Given the description of an element on the screen output the (x, y) to click on. 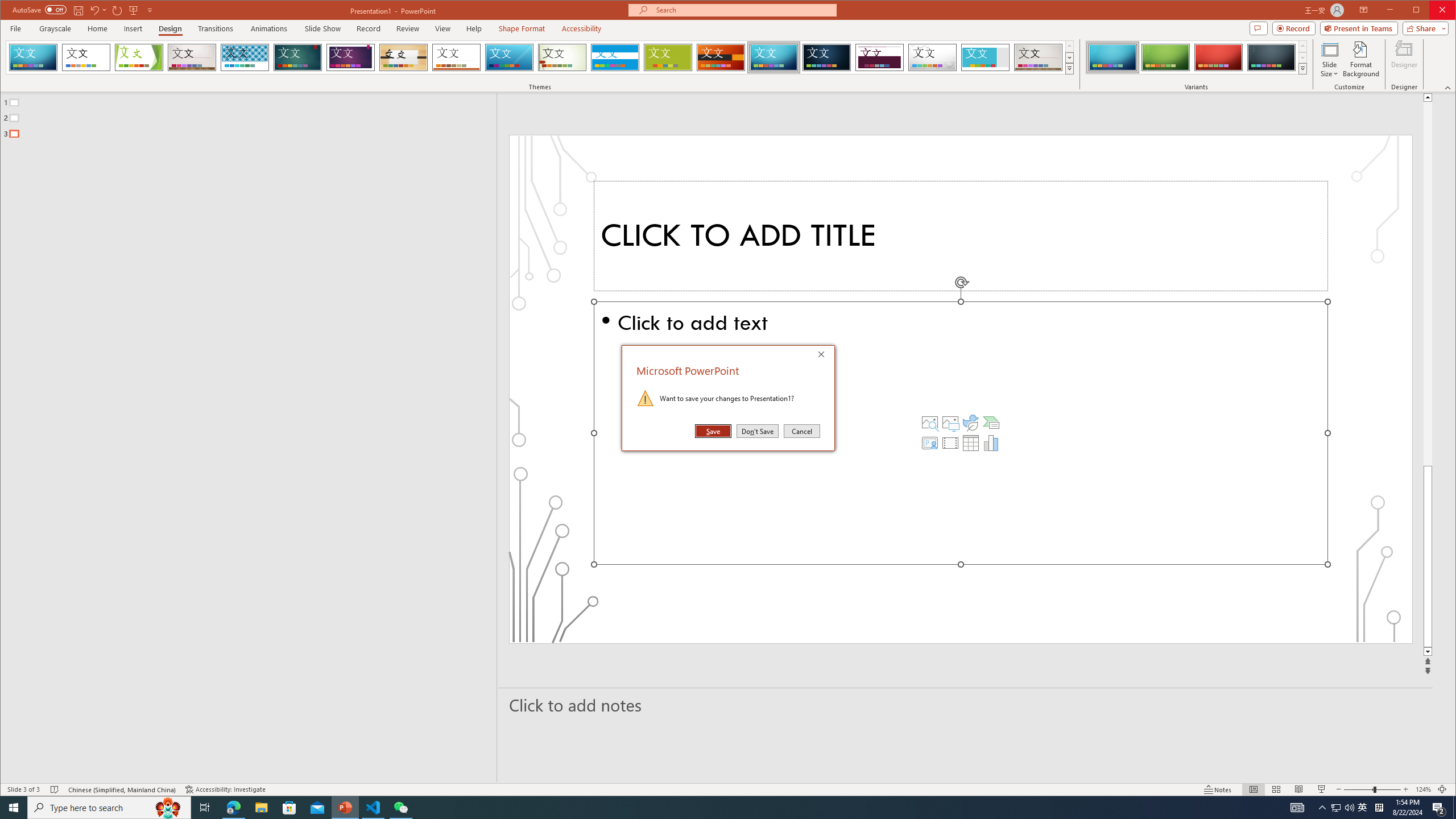
Pictures (949, 422)
Insert Cameo (929, 443)
Droplet (932, 57)
File Explorer (261, 807)
Slide Size (1328, 59)
Class: MsoCommandBar (728, 789)
Rectangle (242, 436)
Wisp (561, 57)
Basis (668, 57)
